Given the description of an element on the screen output the (x, y) to click on. 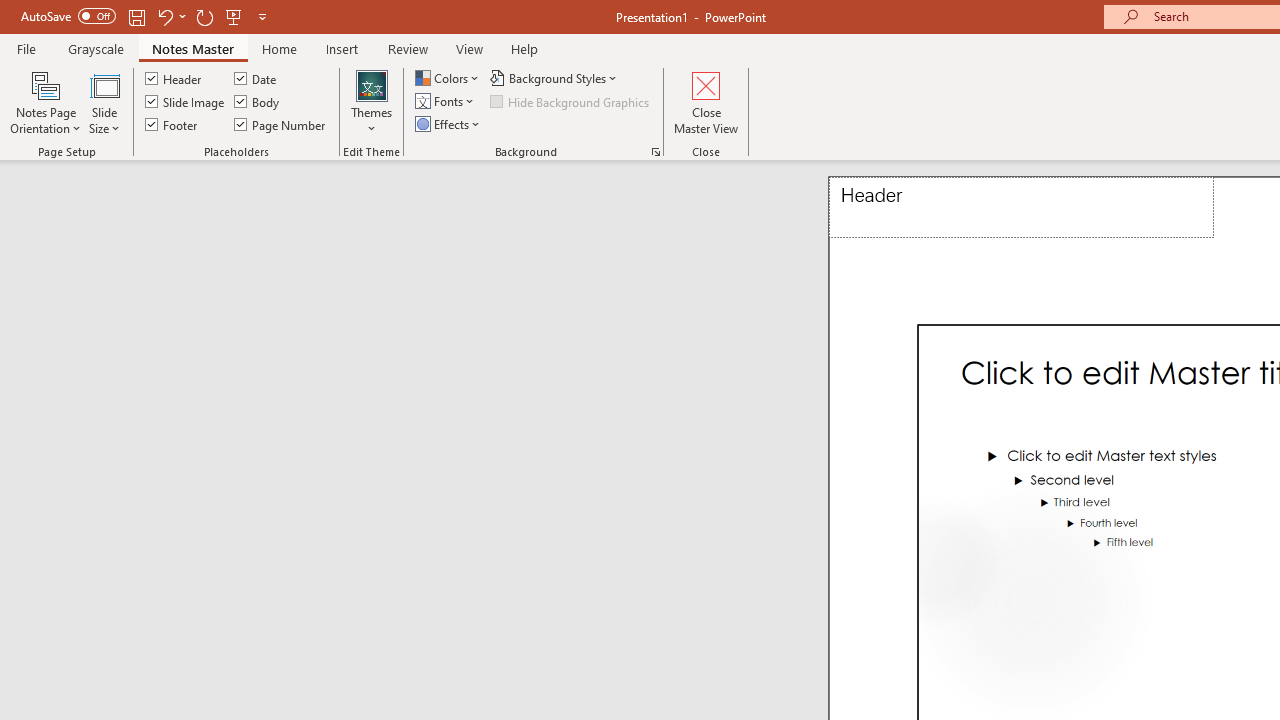
Notes Page Orientation (45, 102)
Colors (449, 78)
